Given the description of an element on the screen output the (x, y) to click on. 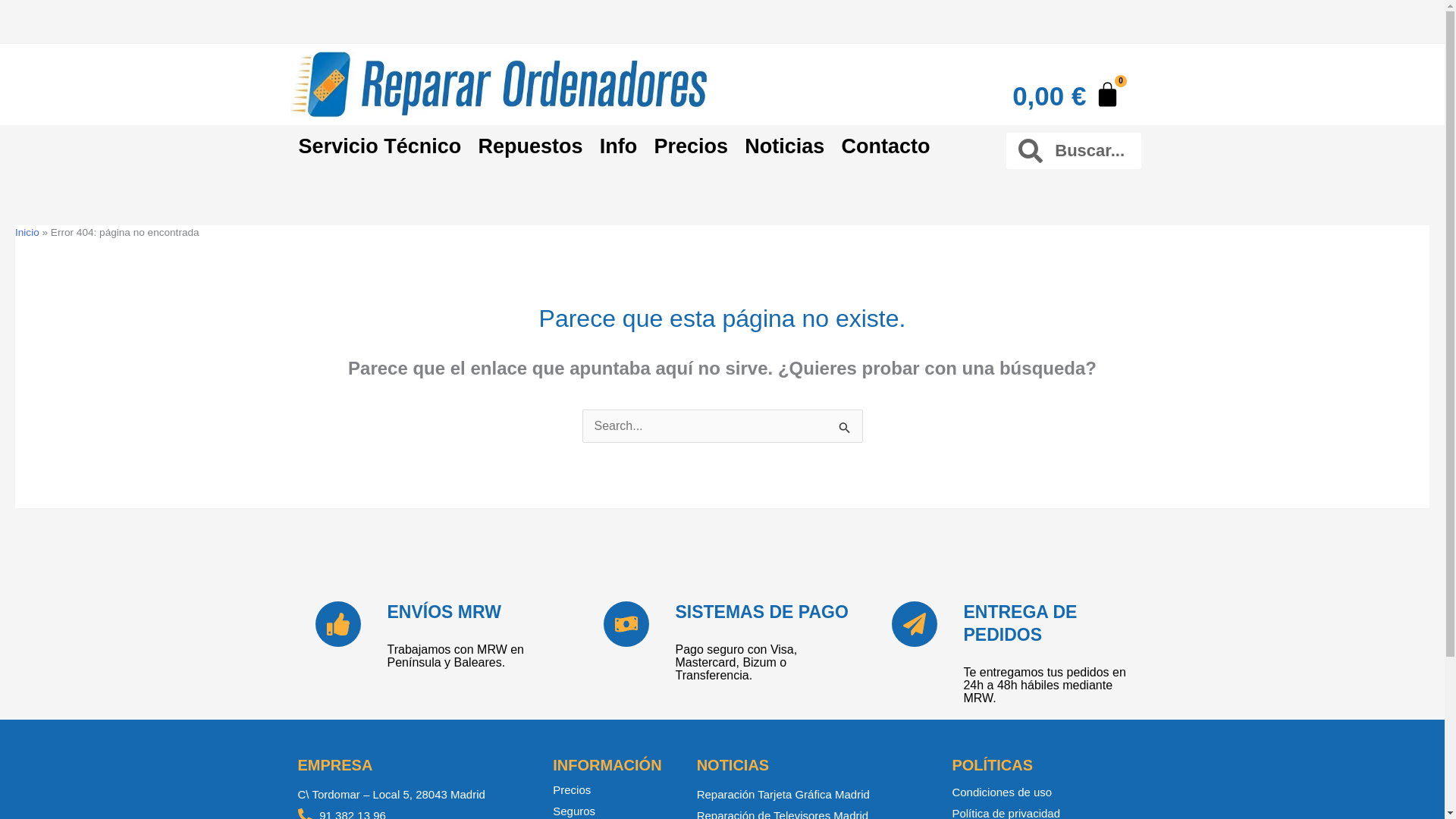
Contacto (884, 145)
Repuestos (529, 145)
Noticias (784, 145)
Precios (690, 145)
Info (618, 145)
